Given the description of an element on the screen output the (x, y) to click on. 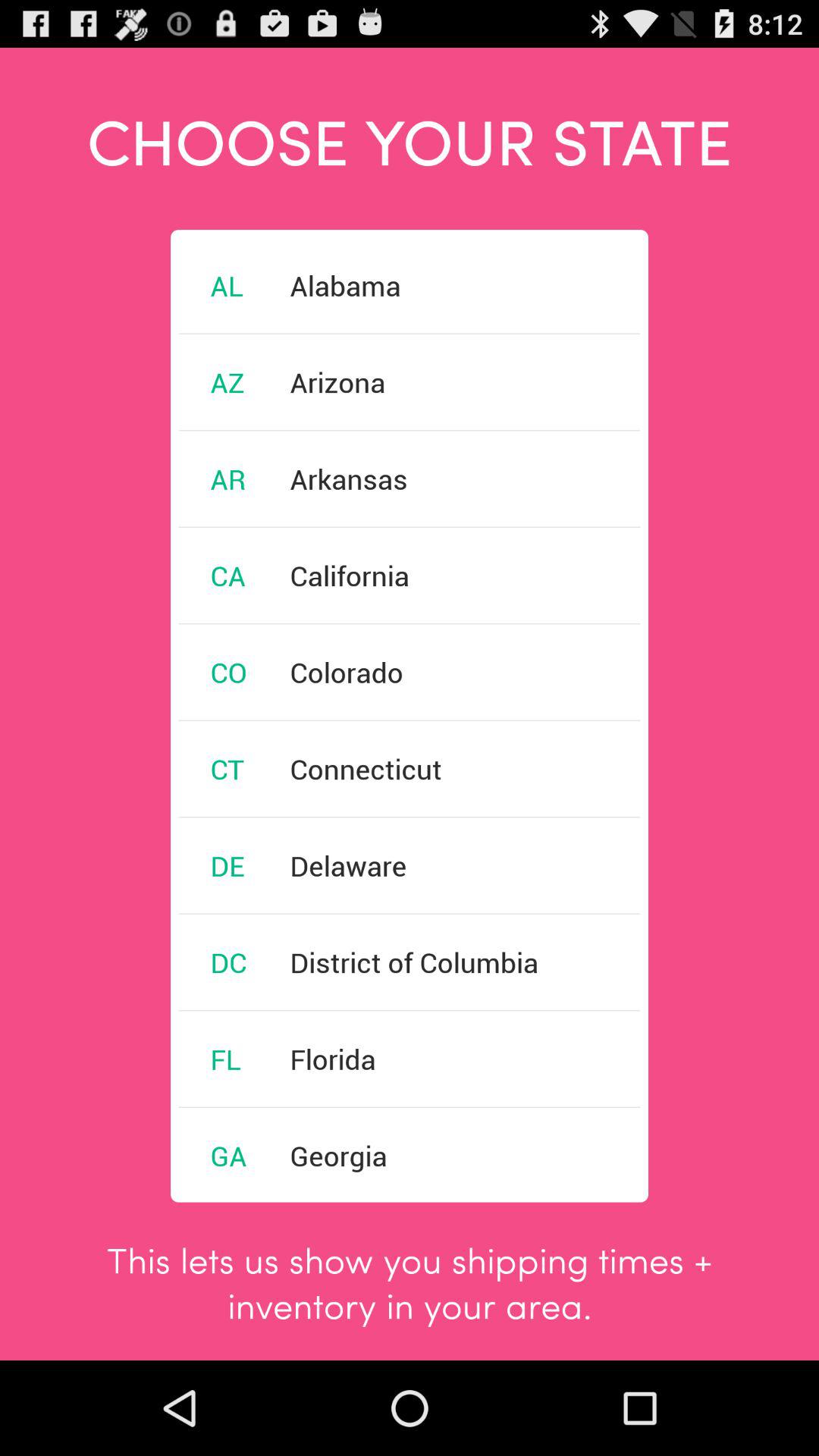
select the icon below the california item (346, 672)
